Given the description of an element on the screen output the (x, y) to click on. 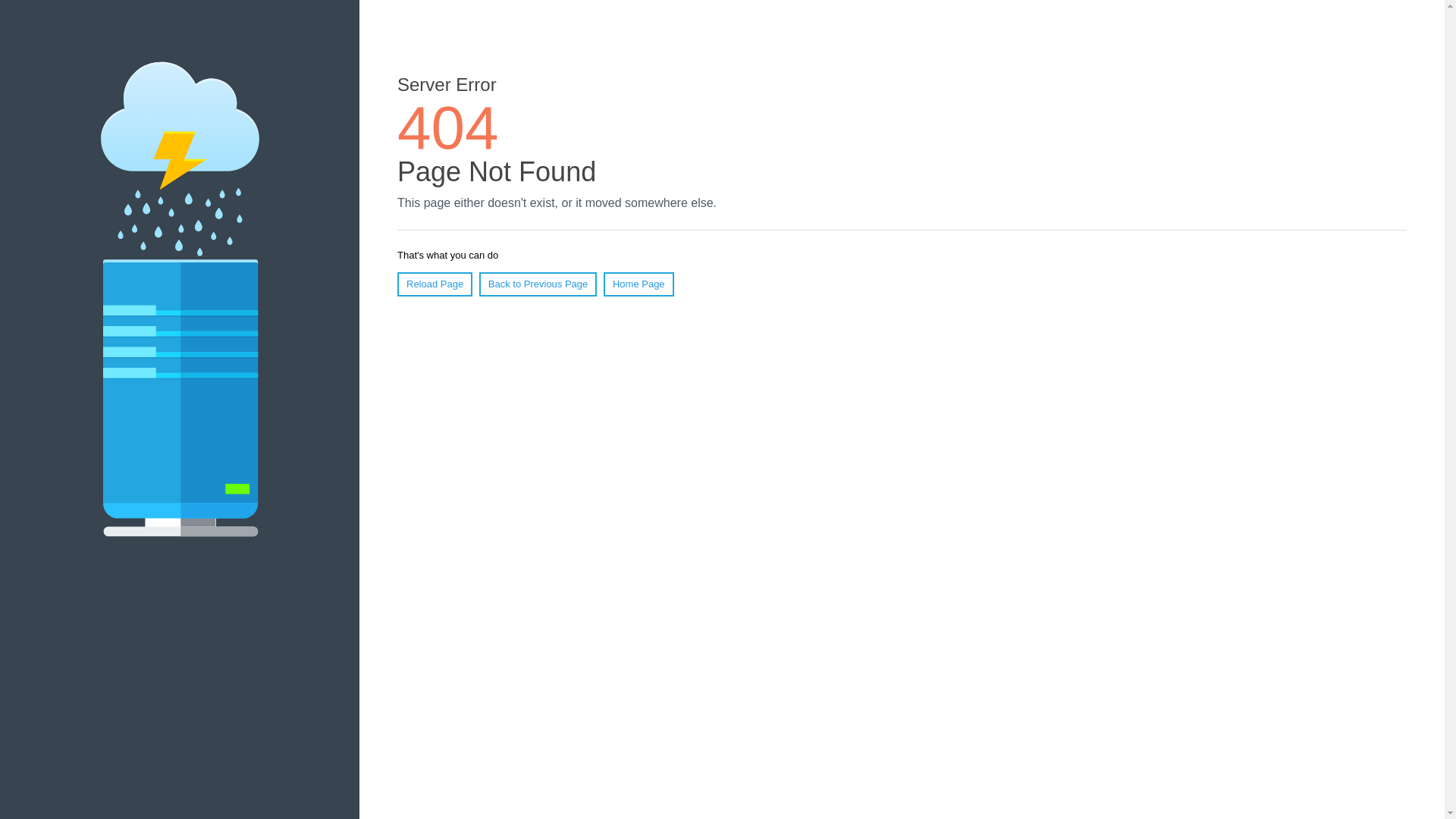
Back to Previous Page Element type: text (538, 284)
Reload Page Element type: text (434, 284)
Home Page Element type: text (638, 284)
